Given the description of an element on the screen output the (x, y) to click on. 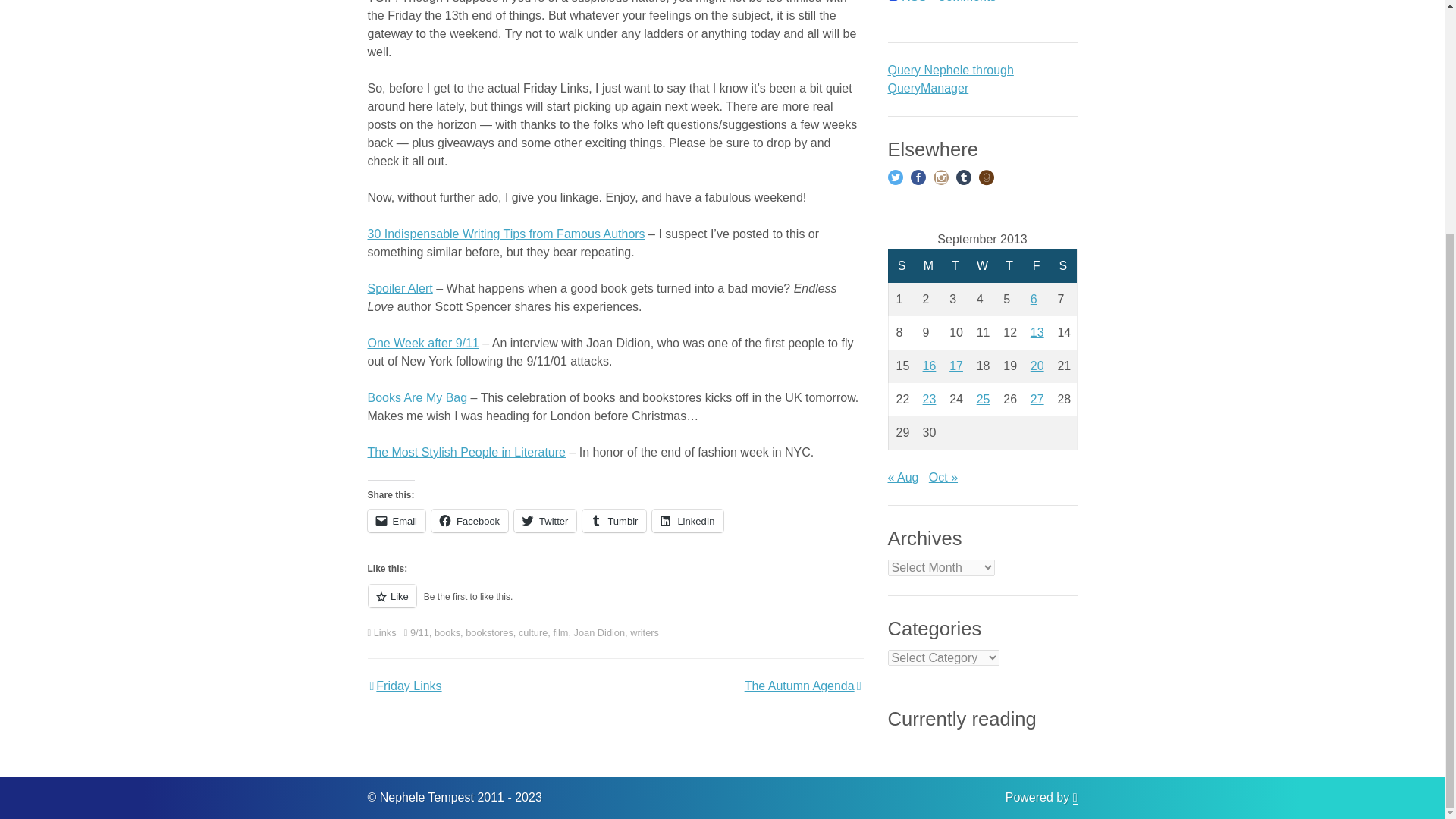
Twitter (544, 520)
Facebook (469, 520)
Tumblr (614, 520)
 RSS - Comments (940, 1)
Joan Didion (599, 633)
Thursday (1009, 265)
Query Nephele through QueryManager (949, 79)
Monday (928, 265)
LinkedIn (687, 520)
Friday Links (403, 685)
Tuesday (955, 265)
Email (395, 520)
The Most Stylish People in Literature (465, 451)
Click to email a link to a friend (395, 520)
Subscribe to comments (940, 1)
